Given the description of an element on the screen output the (x, y) to click on. 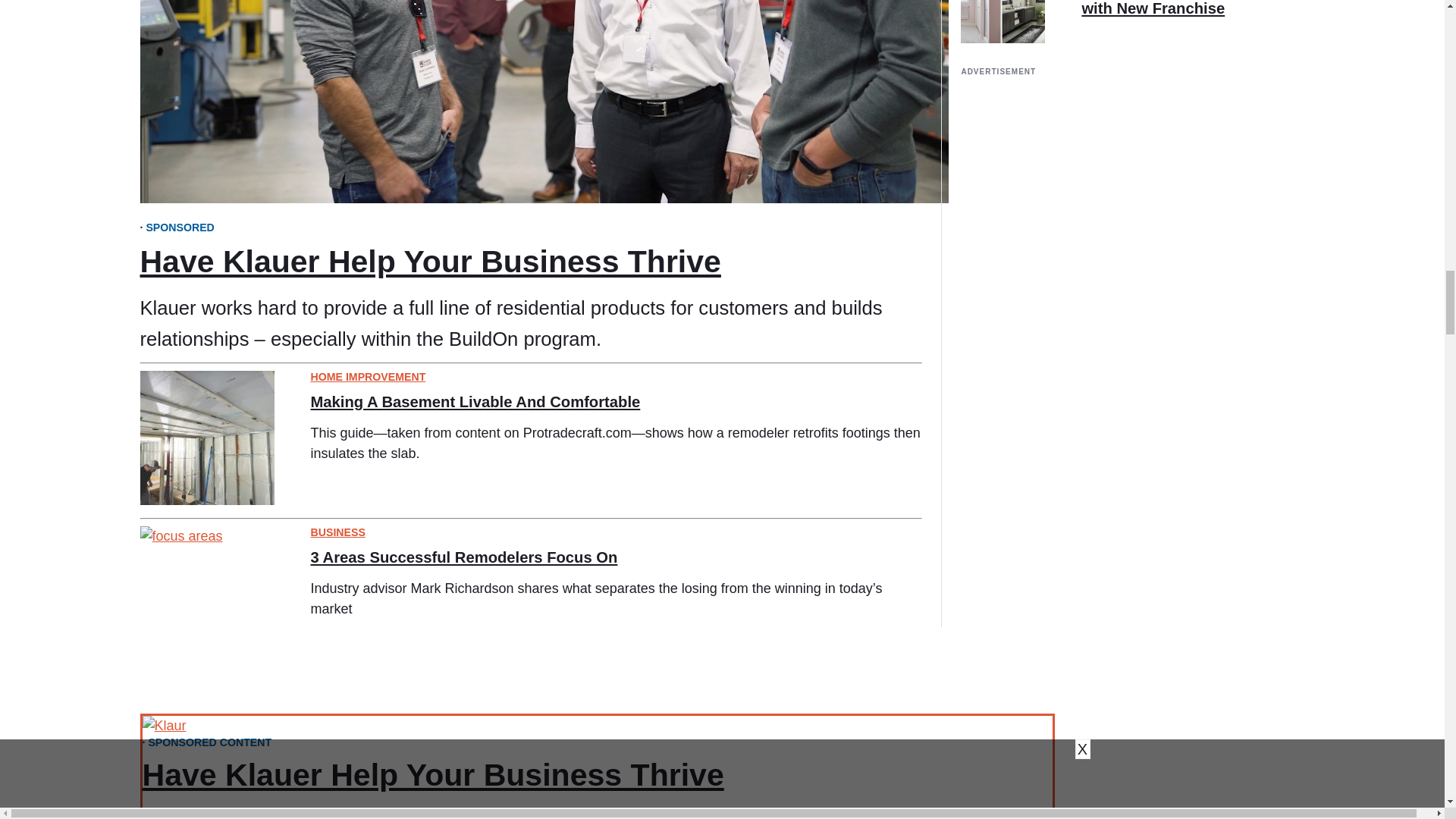
Photo credit: Re-Bath (1002, 21)
